Given the description of an element on the screen output the (x, y) to click on. 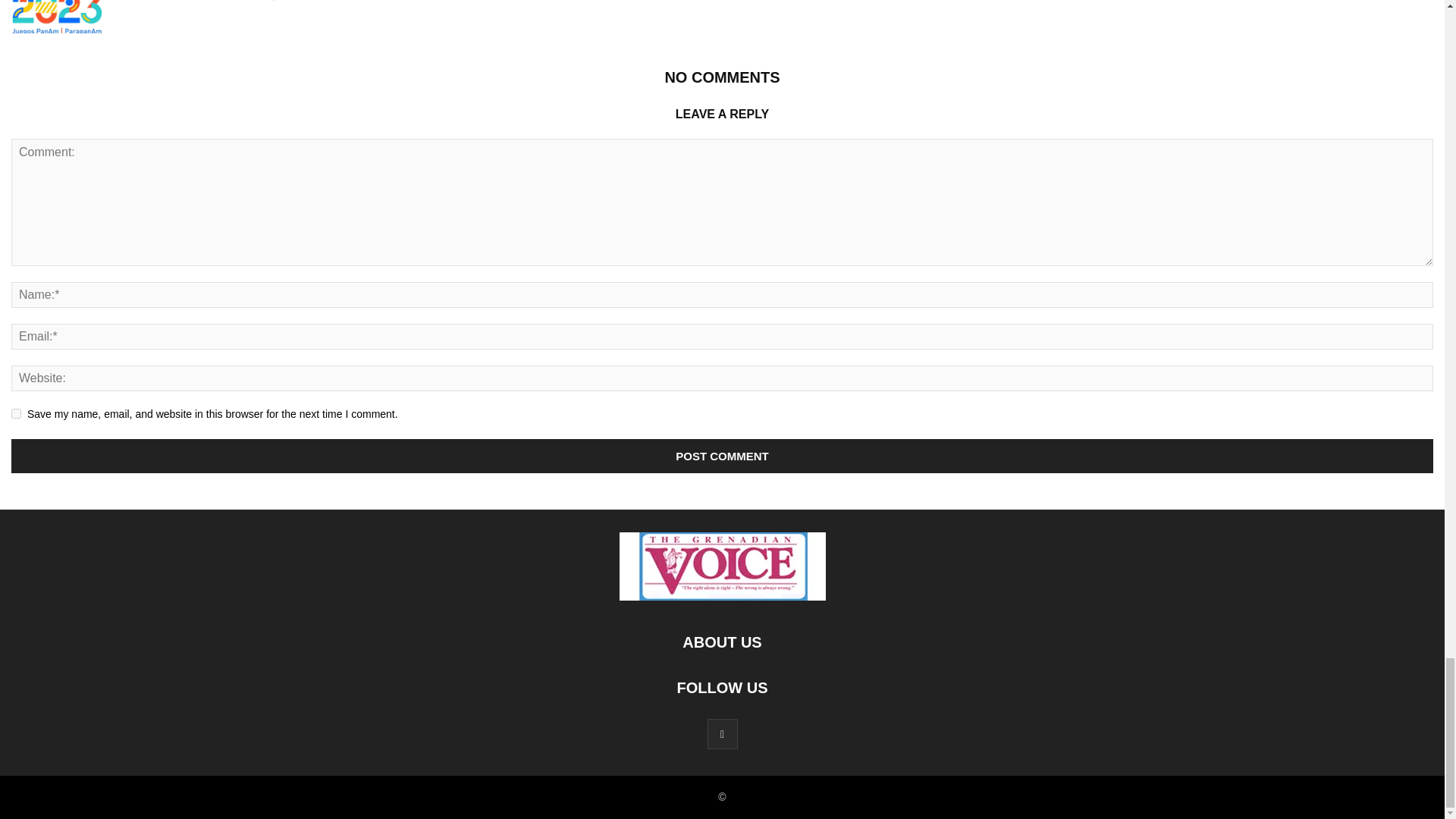
yes (16, 413)
Post Comment (721, 455)
The Grenadian Voice (163, 0)
Post Comment (721, 455)
